Given the description of an element on the screen output the (x, y) to click on. 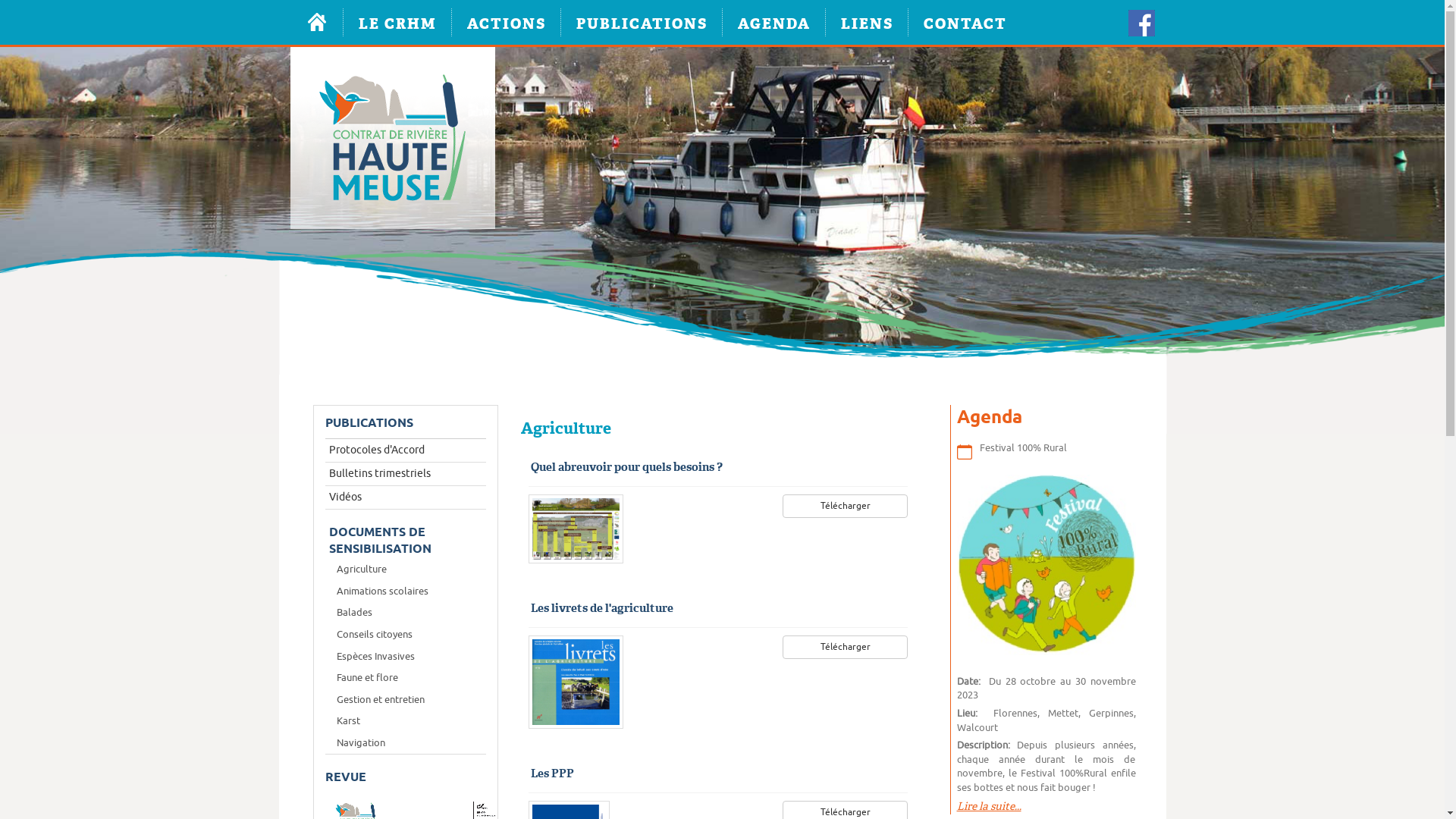
Bulletins trimestriels Element type: text (405, 473)
Agriculture Element type: text (405, 569)
Festival 100% Rural Element type: text (1022, 447)
Gestion et entretien Element type: text (405, 700)
LE CRHM Element type: text (396, 22)
Faune et flore Element type: text (405, 678)
Accueil Element type: hover (315, 22)
Karst Element type: text (405, 721)
Lire la suite... Element type: text (989, 805)
Navigation Element type: text (405, 743)
LIENS Element type: text (866, 22)
CONTACT Element type: text (965, 22)
Animations scolaires Element type: text (405, 591)
AGENDA Element type: text (773, 22)
Conseils citoyens Element type: text (405, 635)
Protocoles d'Accord Element type: text (405, 450)
PUBLICATIONS Element type: text (641, 22)
ACTIONS Element type: text (506, 22)
Balades Element type: text (405, 613)
